Given the description of an element on the screen output the (x, y) to click on. 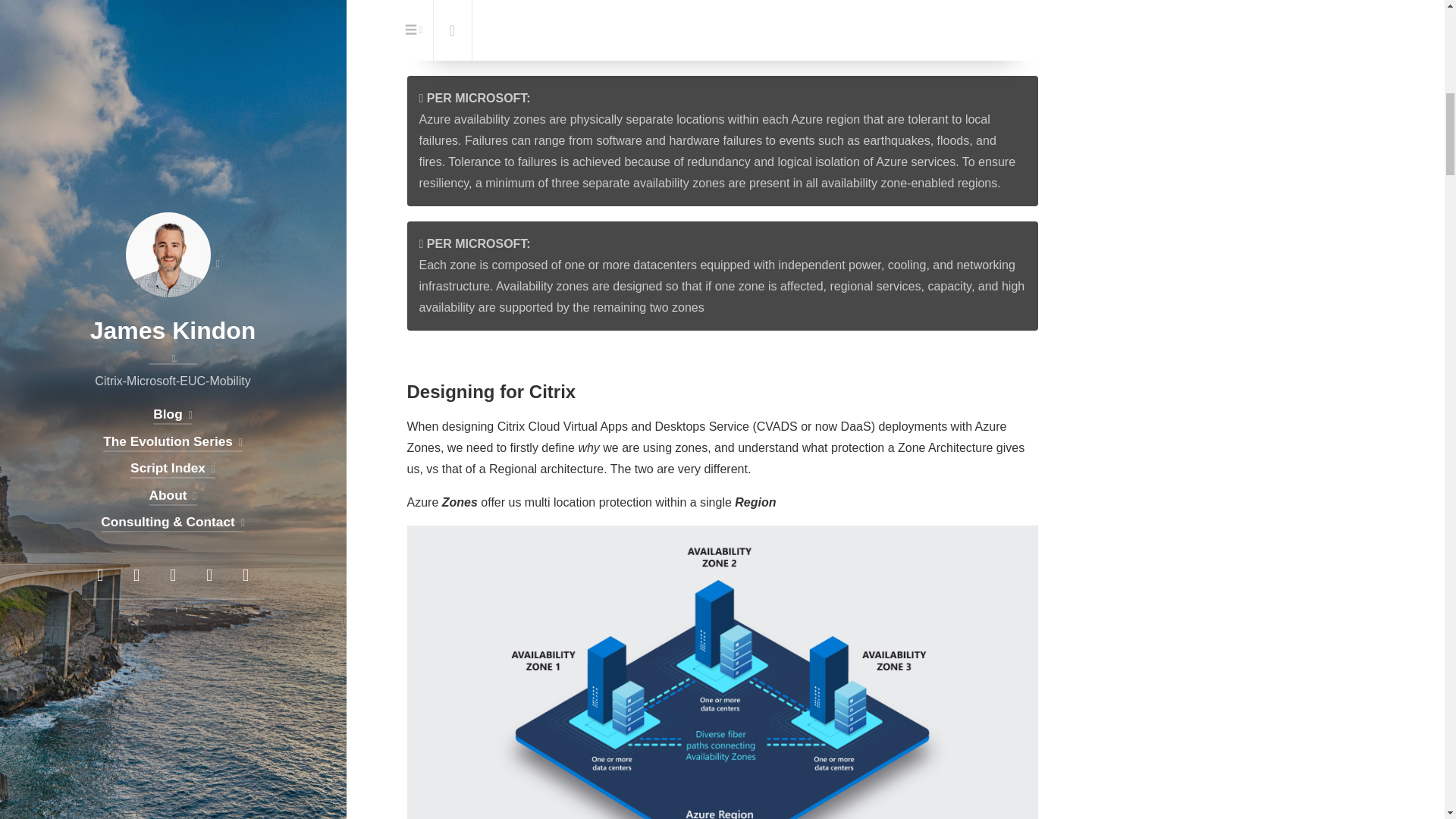
Availability Zones (706, 12)
Availability Sets (877, 2)
here (716, 19)
